Given the description of an element on the screen output the (x, y) to click on. 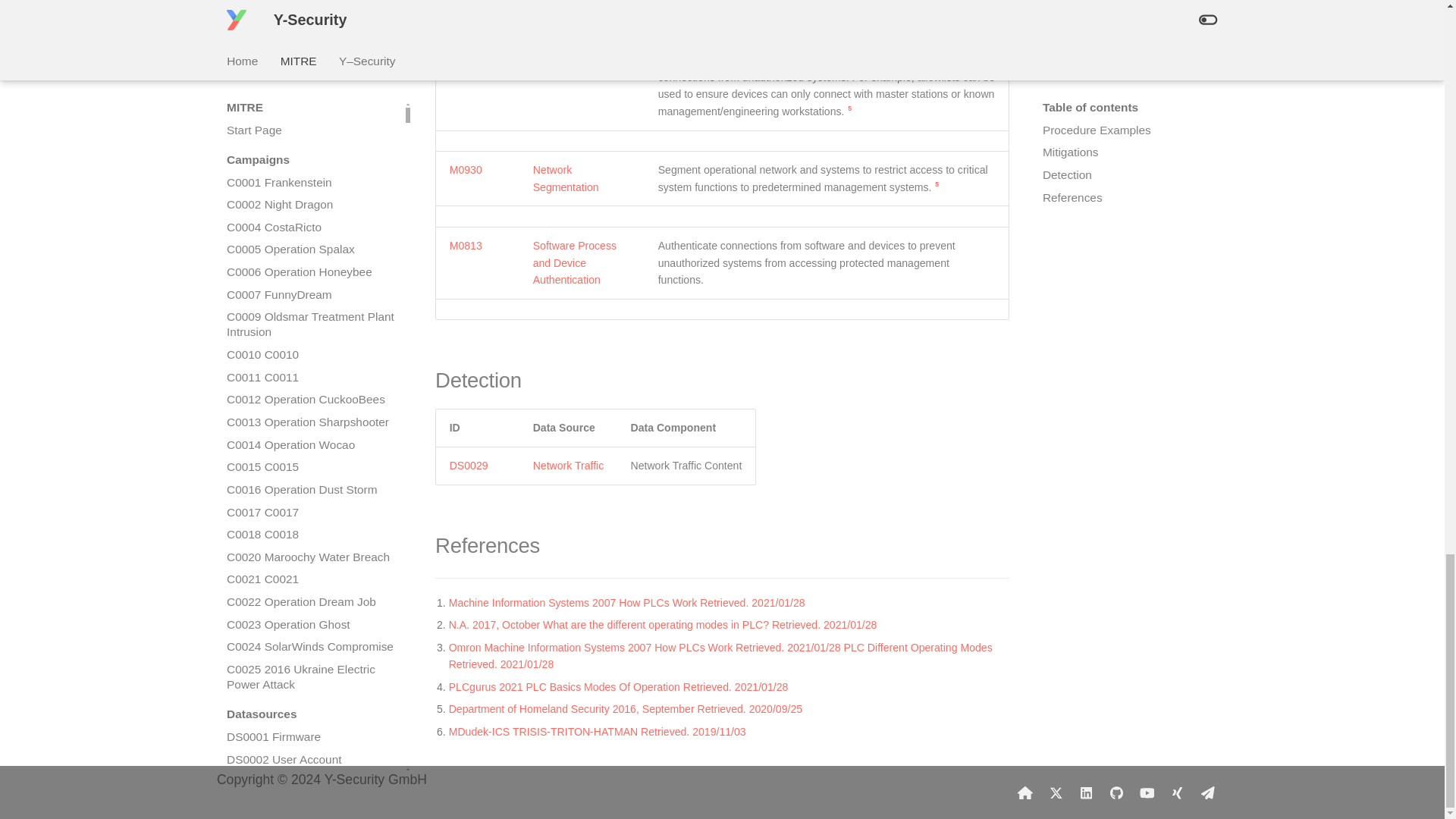
www.youtube.com (1147, 791)
www.linkedin.com (1086, 791)
twitter.com (1055, 791)
github.com (1116, 791)
www.y-security.de (1025, 791)
